Given the description of an element on the screen output the (x, y) to click on. 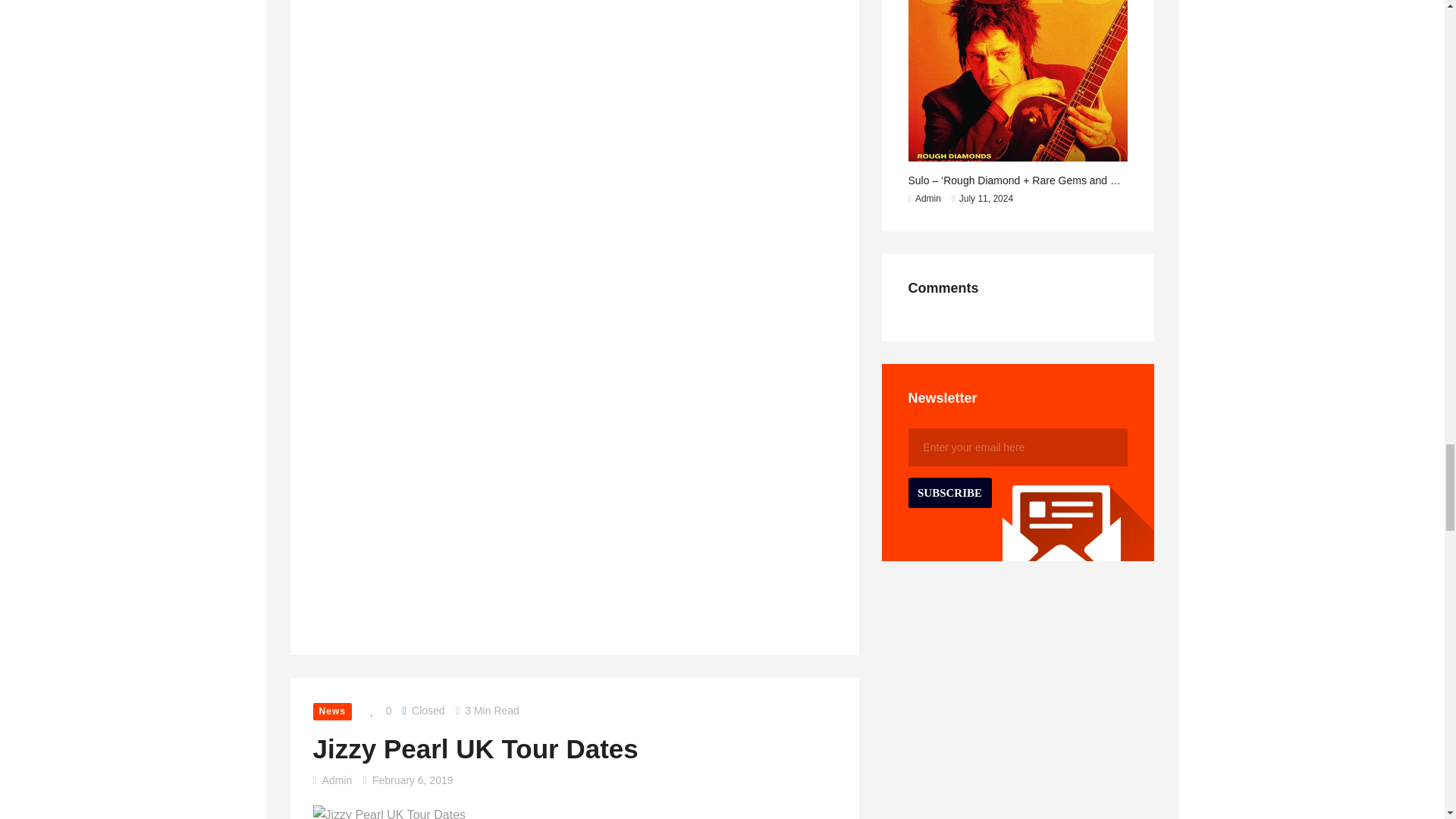
Like this (376, 710)
Subscribe (949, 492)
